Given the description of an element on the screen output the (x, y) to click on. 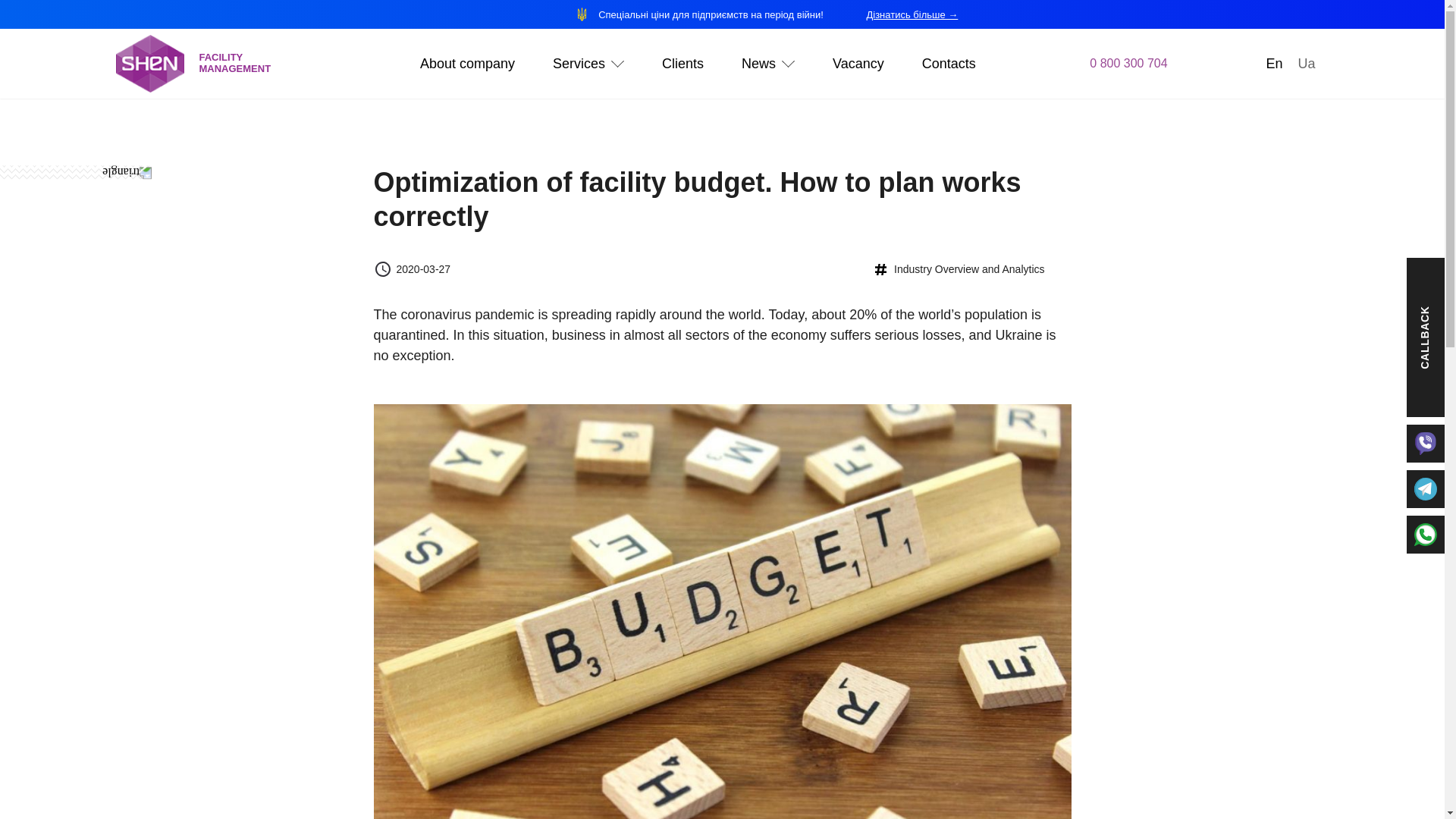
En (1273, 63)
News (432, 90)
0 800 300 704 (1128, 62)
Contacts (948, 63)
Industry Overview and Analytics (956, 269)
Services (579, 63)
Clients (682, 63)
Vacancy (156, 63)
News (857, 63)
Ua (758, 63)
Shen (1306, 63)
About company (384, 90)
